Given the description of an element on the screen output the (x, y) to click on. 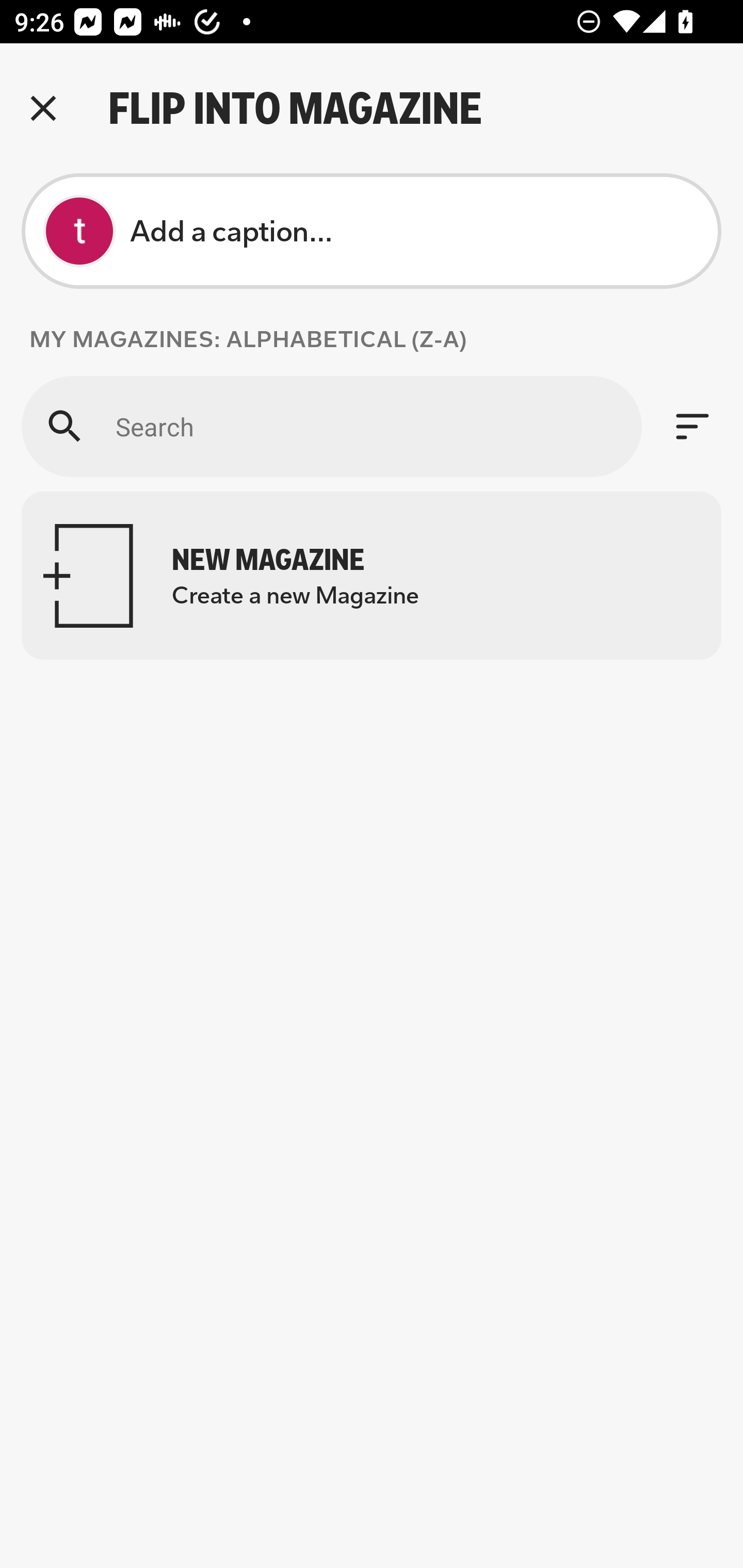
test appium Add a caption… (371, 231)
Search (331, 426)
NEW MAGAZINE Create a new Magazine (371, 575)
